Given the description of an element on the screen output the (x, y) to click on. 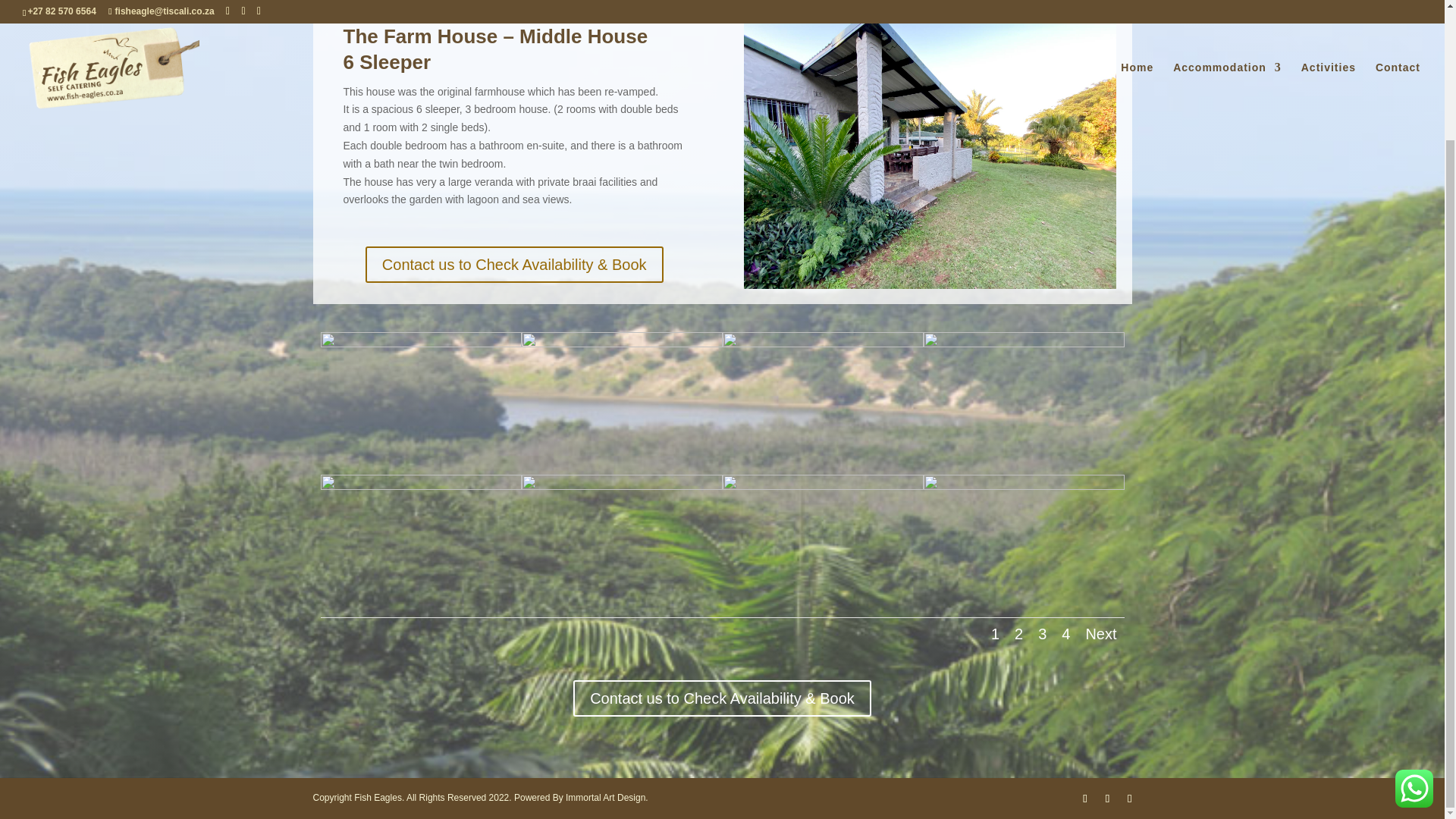
Fish Eagles Self Catering Cottages in Mtunzini-4811 (1023, 343)
Fish Eagles Self Catering Cottages in Mtunzini-4804 (822, 343)
Fish Eagles Self Catering Cottages in Mtunzini-4803 (621, 343)
Fish Eagles Self Catering Cottages in Mtunzini-4820 (420, 343)
Fish Eagles Self Catering Cottages in Mtunzini-4877 (930, 149)
Fish Eagles Self Catering Cottages in Mtunzini-4796 (420, 485)
